Given the description of an element on the screen output the (x, y) to click on. 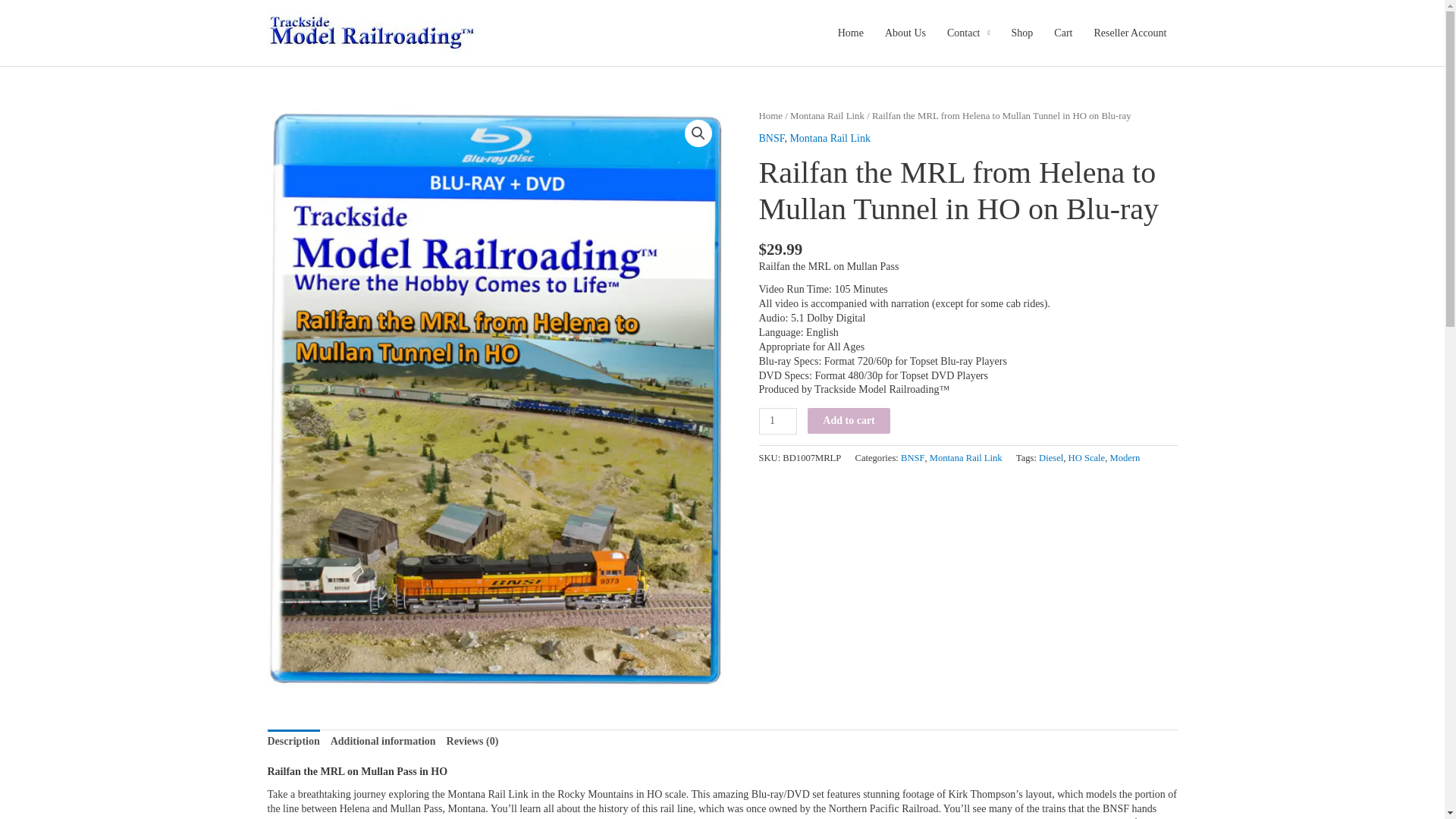
Additional information (382, 741)
Modern (1124, 457)
Montana Rail Link (827, 115)
BNSF (771, 138)
Montana Rail Link (829, 138)
PayPal (967, 525)
Reseller Account (1129, 33)
Montana Rail Link (966, 457)
Home (769, 115)
Add to cart (848, 420)
About Us (905, 33)
Shop (1022, 33)
Contact (968, 33)
Description (292, 741)
HO Scale (1086, 457)
